Given the description of an element on the screen output the (x, y) to click on. 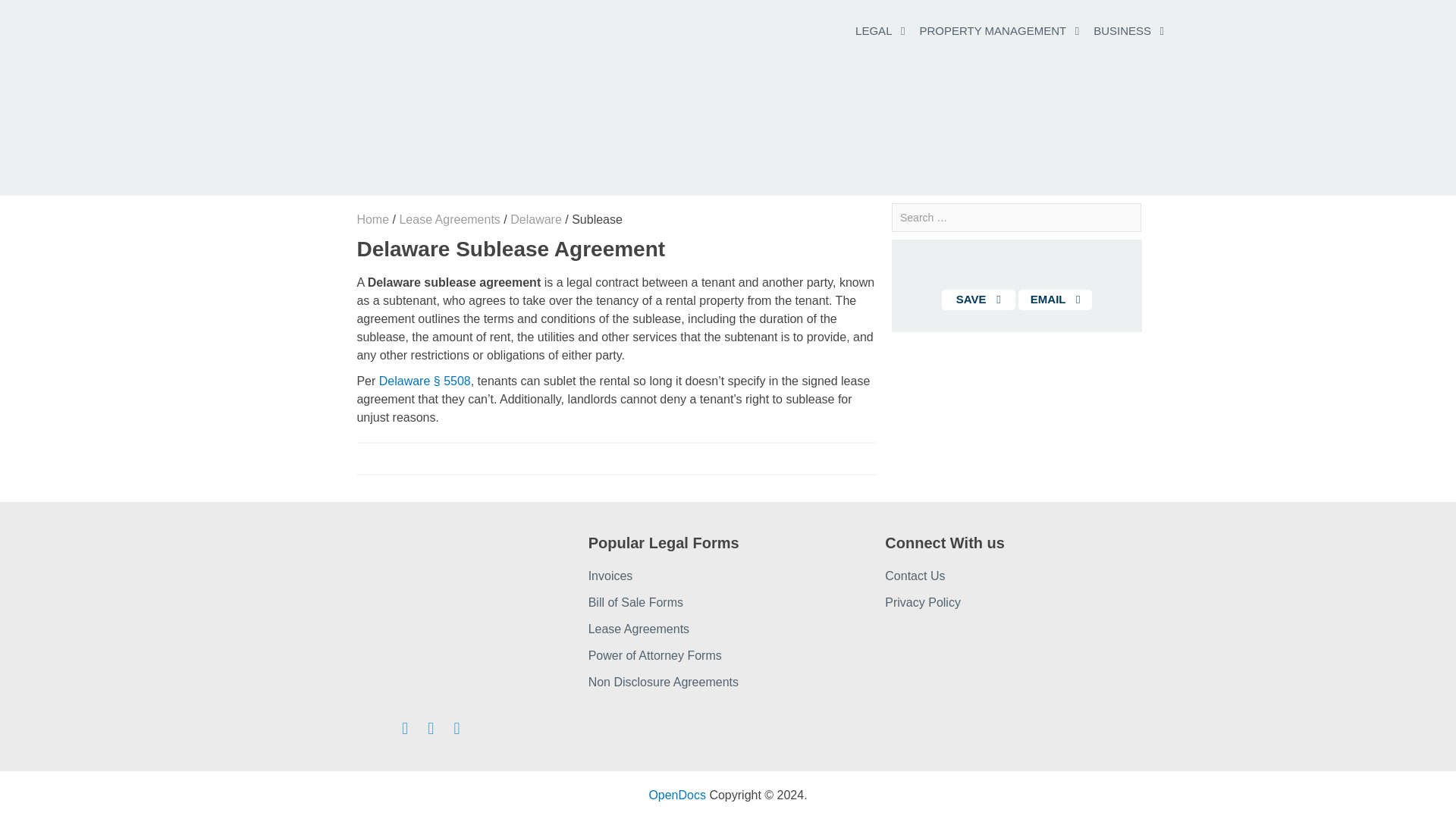
Open Docs (676, 794)
EMAIL (1054, 299)
SAVE (978, 299)
BUSINESS (1122, 31)
LEGAL (873, 31)
PROPERTY MANAGEMENT (992, 31)
